Given the description of an element on the screen output the (x, y) to click on. 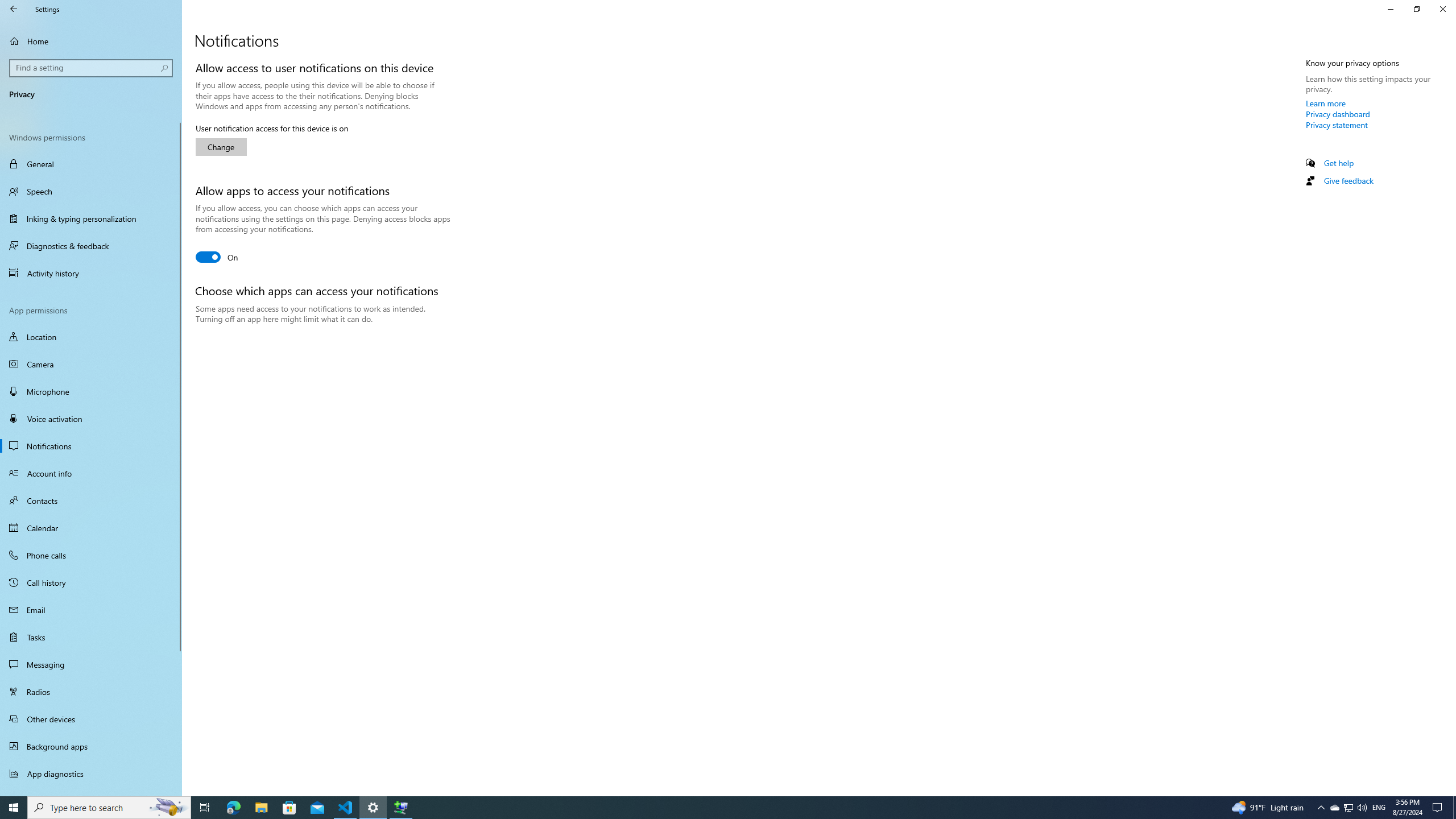
App diagnostics (91, 773)
Account info (91, 472)
Diagnostics & feedback (91, 245)
Radios (91, 691)
Learn more (1326, 102)
Voice activation (91, 418)
Inking & typing personalization (91, 217)
Notifications (91, 445)
Camera (91, 363)
Privacy statement (1336, 124)
